Given the description of an element on the screen output the (x, y) to click on. 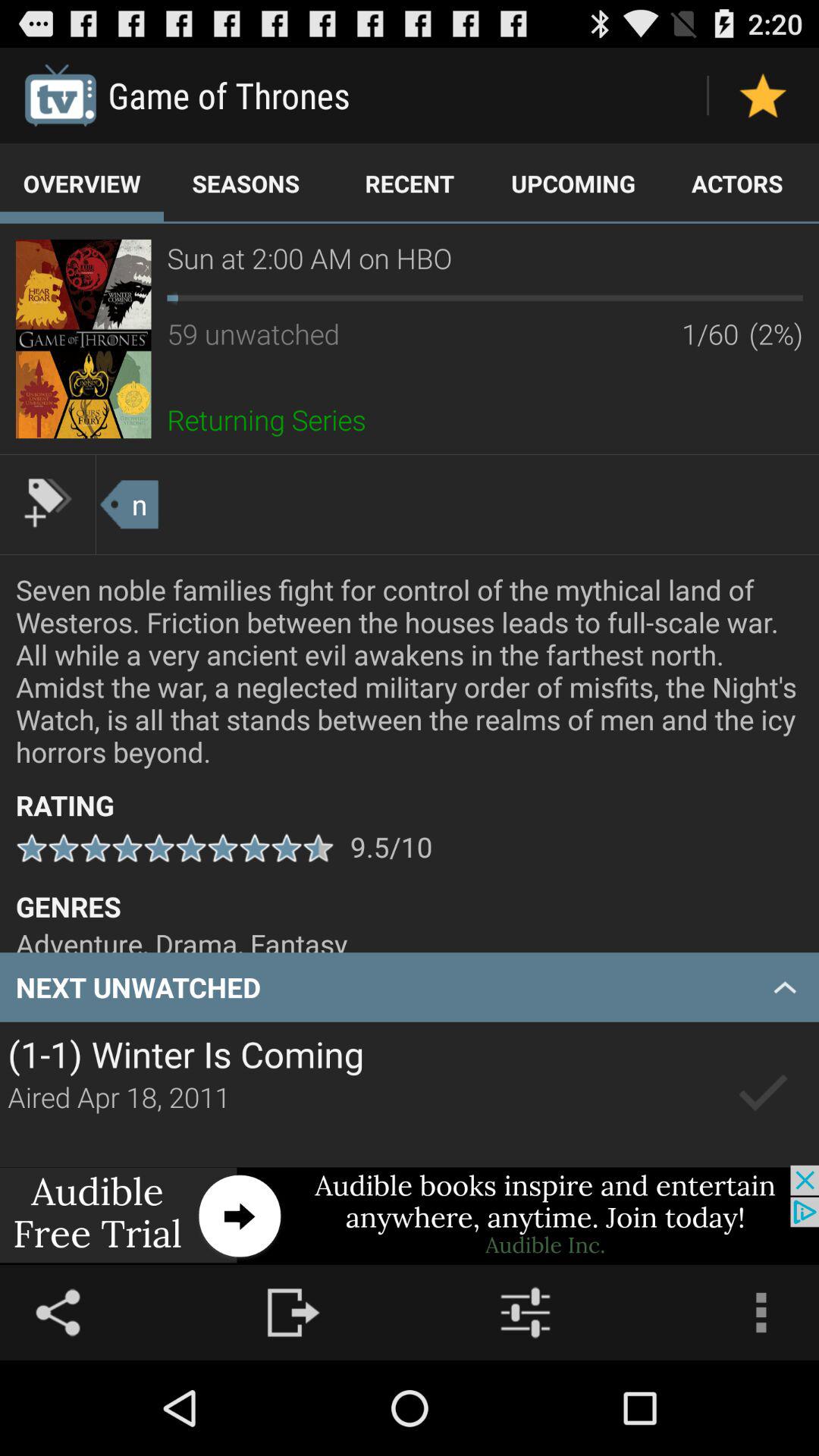
edit (47, 502)
